Given the description of an element on the screen output the (x, y) to click on. 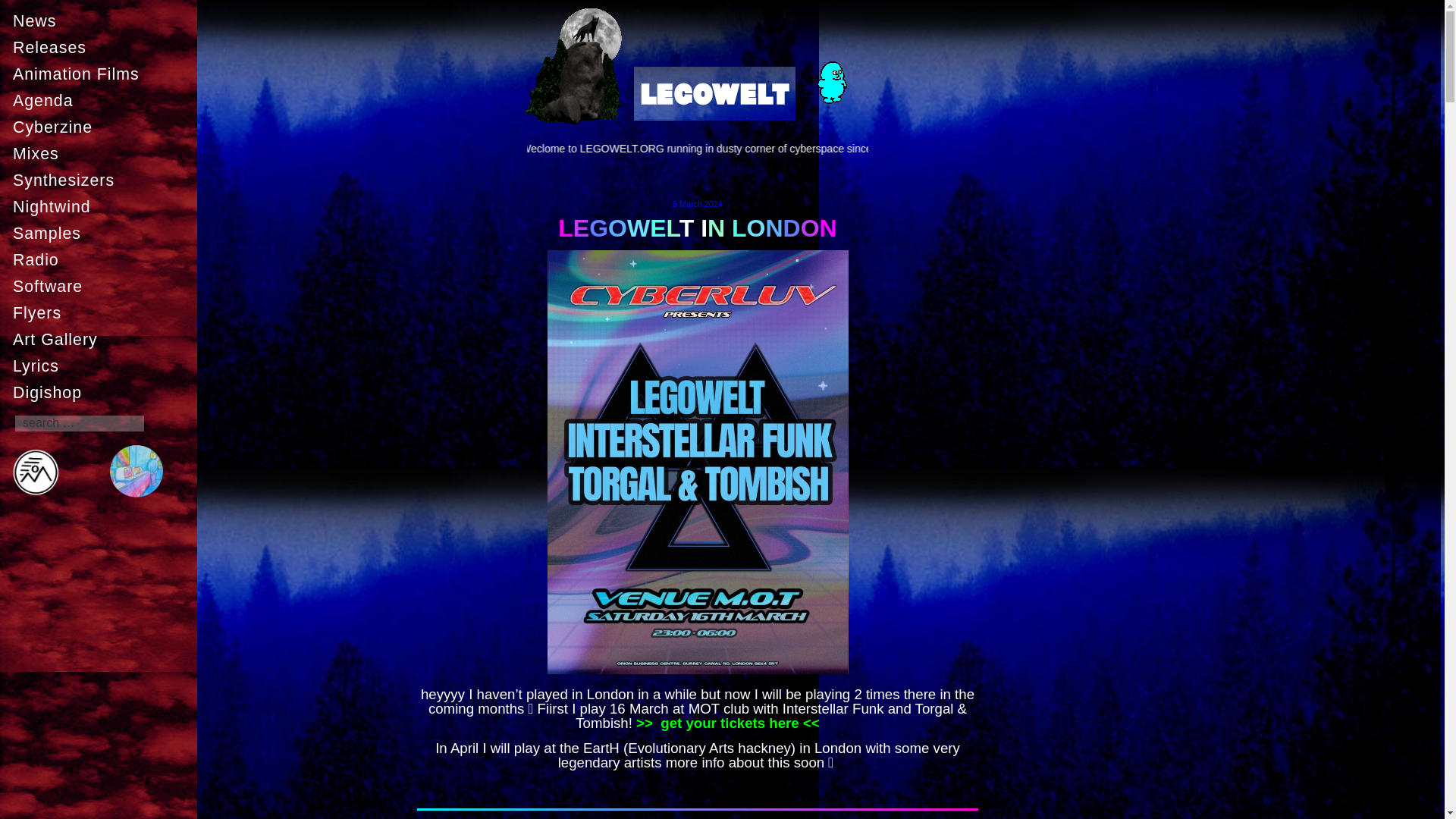
Mixes (102, 153)
Software (102, 286)
Search (21, 6)
Flyers (102, 313)
Radio (102, 259)
Samples (102, 233)
Search for: (79, 423)
Agenda (102, 100)
Releases (102, 47)
Synthesizers (102, 180)
